Given the description of an element on the screen output the (x, y) to click on. 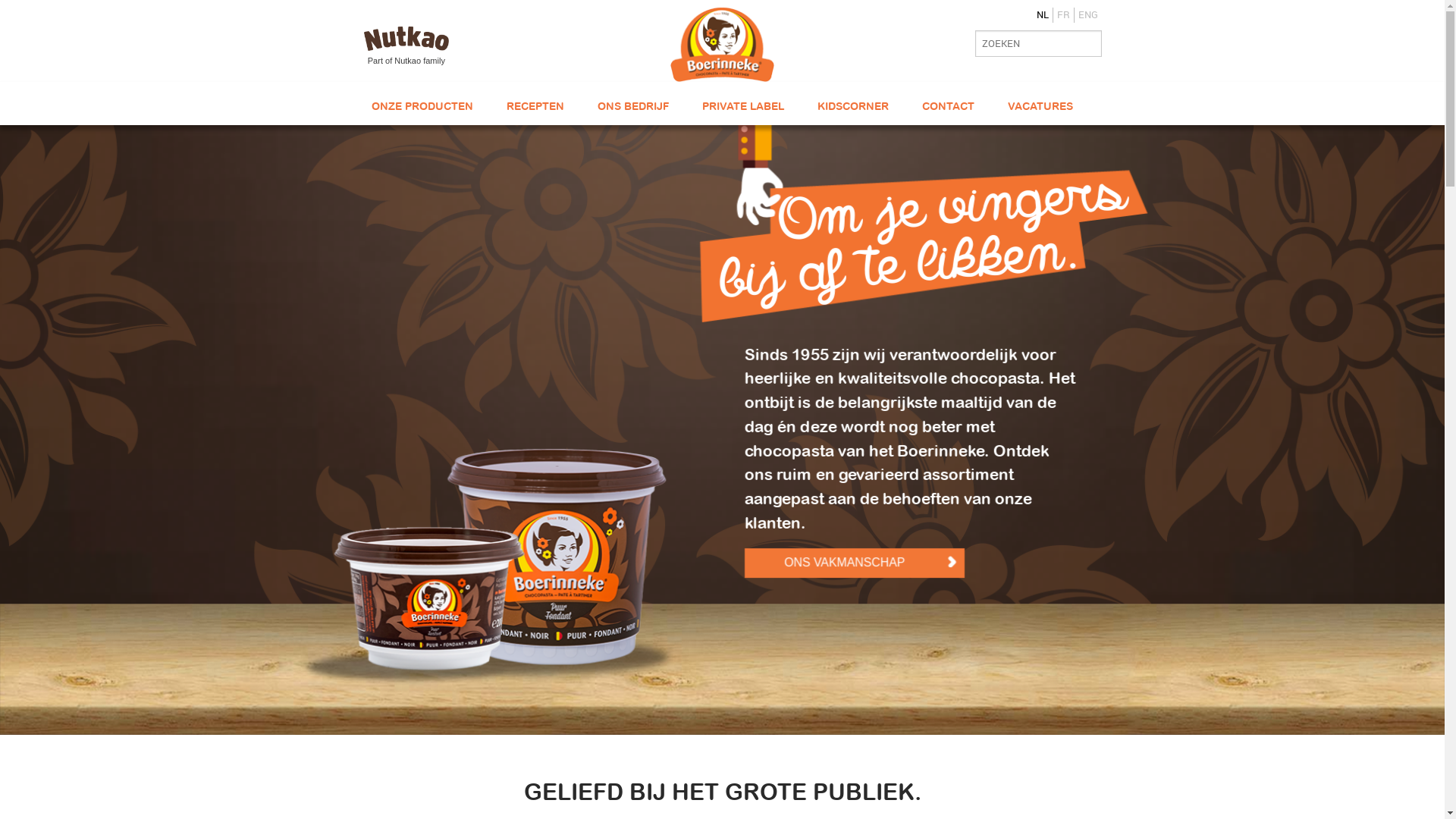
NL Element type: text (1041, 14)
ENG Element type: text (1088, 14)
FR Element type: text (1063, 14)
PRIVATE LABEL Element type: text (743, 106)
ONZE PRODUCTEN Element type: text (422, 106)
ONS BEDRIJF Element type: text (632, 106)
ONS VAKMANSCHAP Element type: text (853, 561)
RECEPTEN Element type: text (535, 106)
KIDSCORNER Element type: text (852, 106)
CONTACT Element type: text (948, 106)
VACATURES Element type: text (1040, 106)
